Given the description of an element on the screen output the (x, y) to click on. 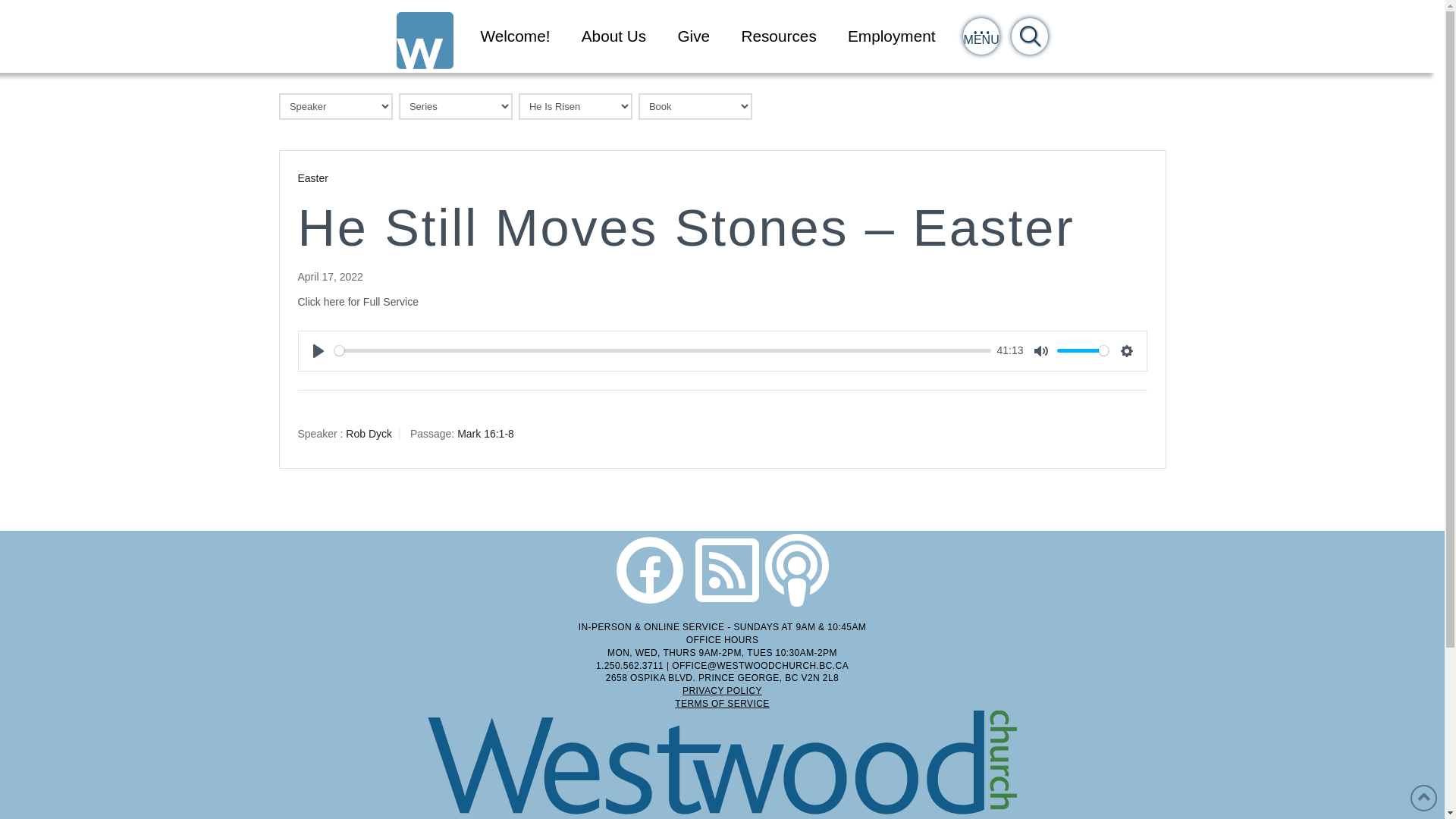
Mark 16:1-8 Element type: text (485, 432)
Easter Element type: text (312, 178)
Employment Element type: text (890, 36)
Give Element type: text (693, 36)
Welcome! Element type: text (514, 36)
About Us Element type: text (613, 36)
TERMS OF SERVICE Element type: text (721, 703)
Play Element type: text (318, 350)
Resources Element type: text (778, 36)
PRIVACY POLICY Element type: text (722, 690)
Rob Dyck Element type: text (368, 432)
Mute Element type: text (1041, 350)
Back to Top Element type: hover (1423, 797)
Settings Element type: text (1126, 350)
